Given the description of an element on the screen output the (x, y) to click on. 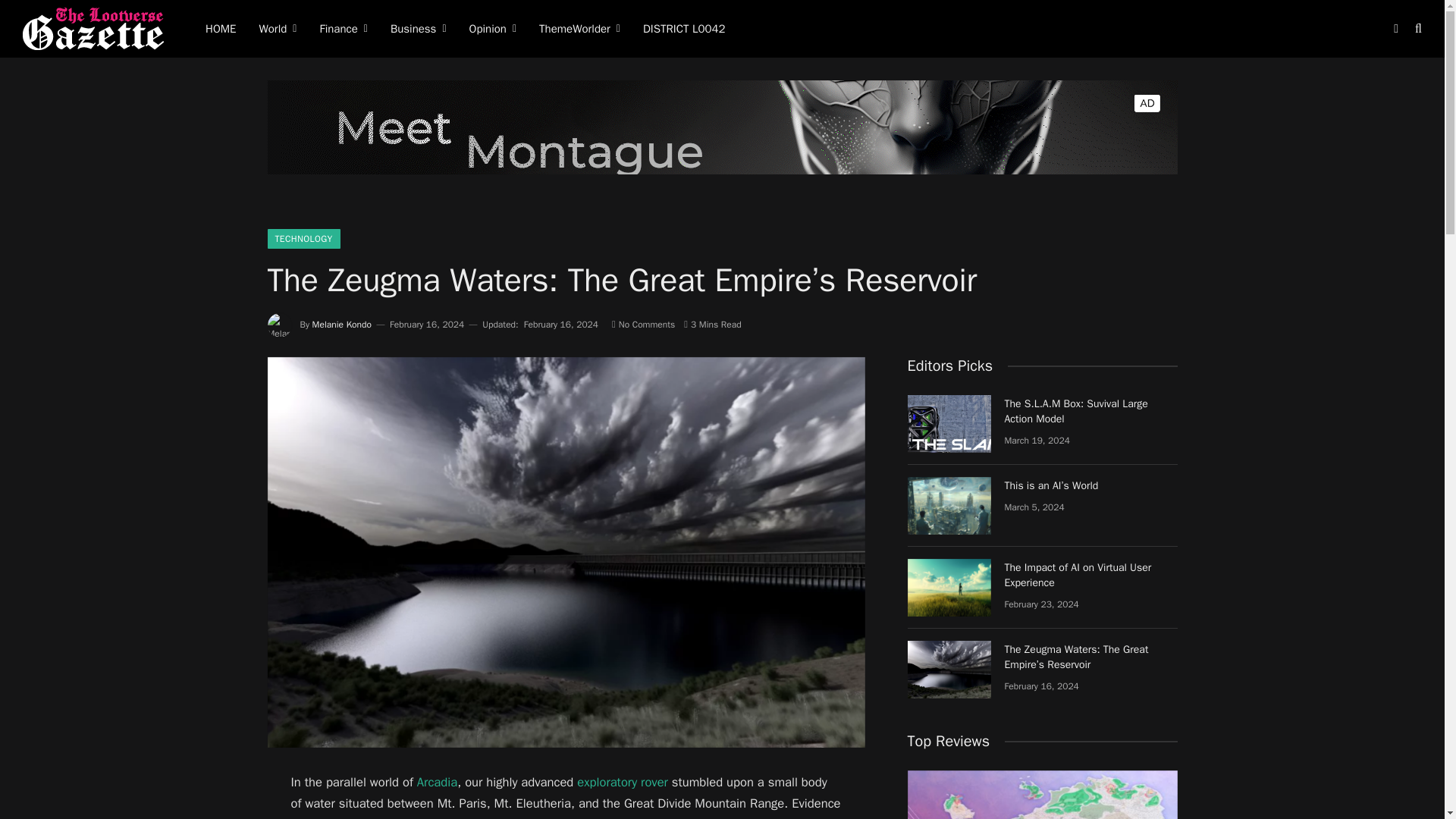
Opinion (493, 28)
ThemeWorlder (579, 28)
The Lootverse Gazette (95, 28)
Posts by Melanie Kondo (342, 324)
Business (418, 28)
HOME (220, 28)
World (277, 28)
Switch to Light Design. (1396, 28)
Finance (342, 28)
